Given the description of an element on the screen output the (x, y) to click on. 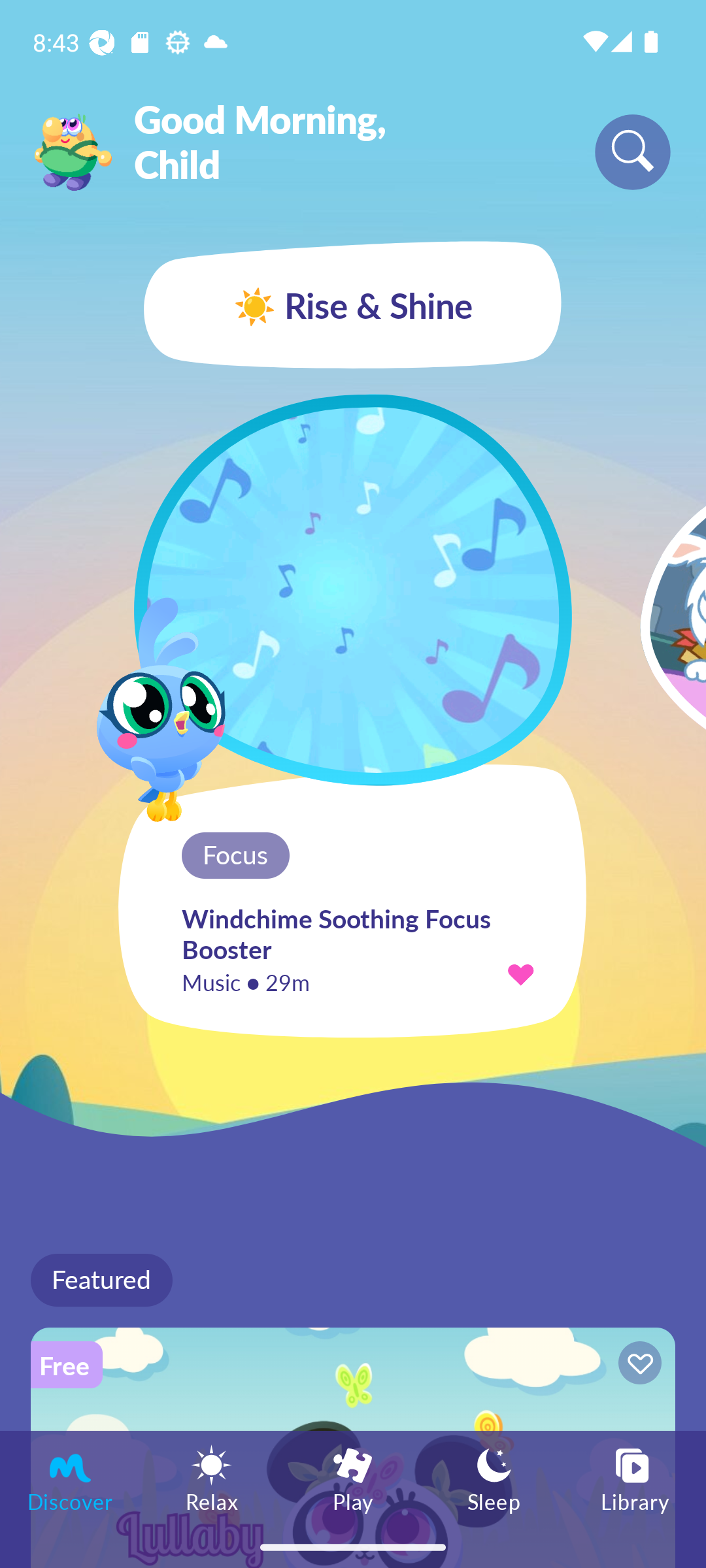
Search (632, 151)
action (520, 973)
Button (636, 1365)
Relax (211, 1478)
Play (352, 1478)
Sleep (493, 1478)
Library (635, 1478)
